Given the description of an element on the screen output the (x, y) to click on. 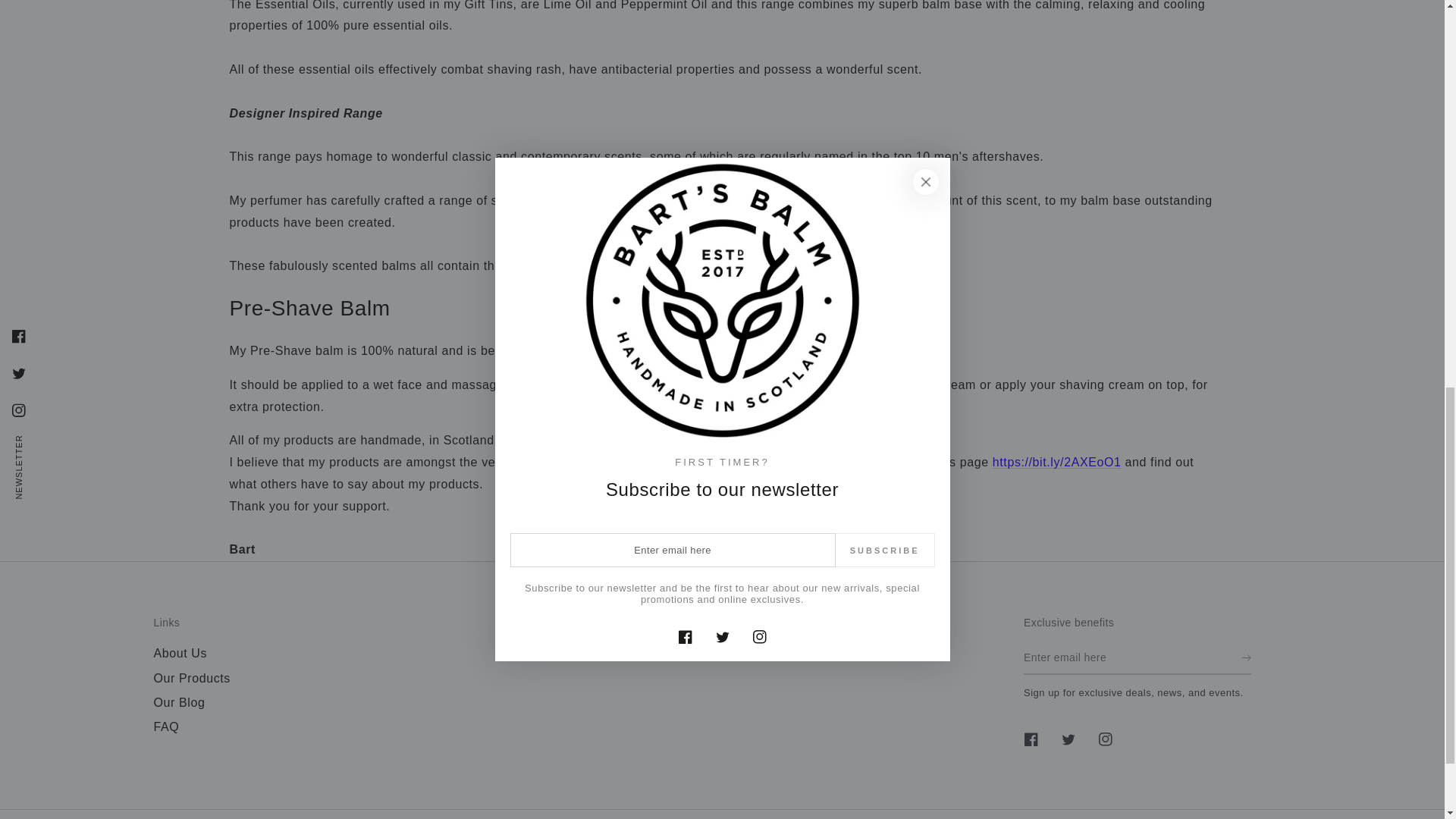
Bart's Balm Reviews (1056, 461)
About Us (179, 653)
FAQ (165, 726)
Our Blog (178, 702)
Facebook (1031, 738)
Our Products (191, 677)
